Given the description of an element on the screen output the (x, y) to click on. 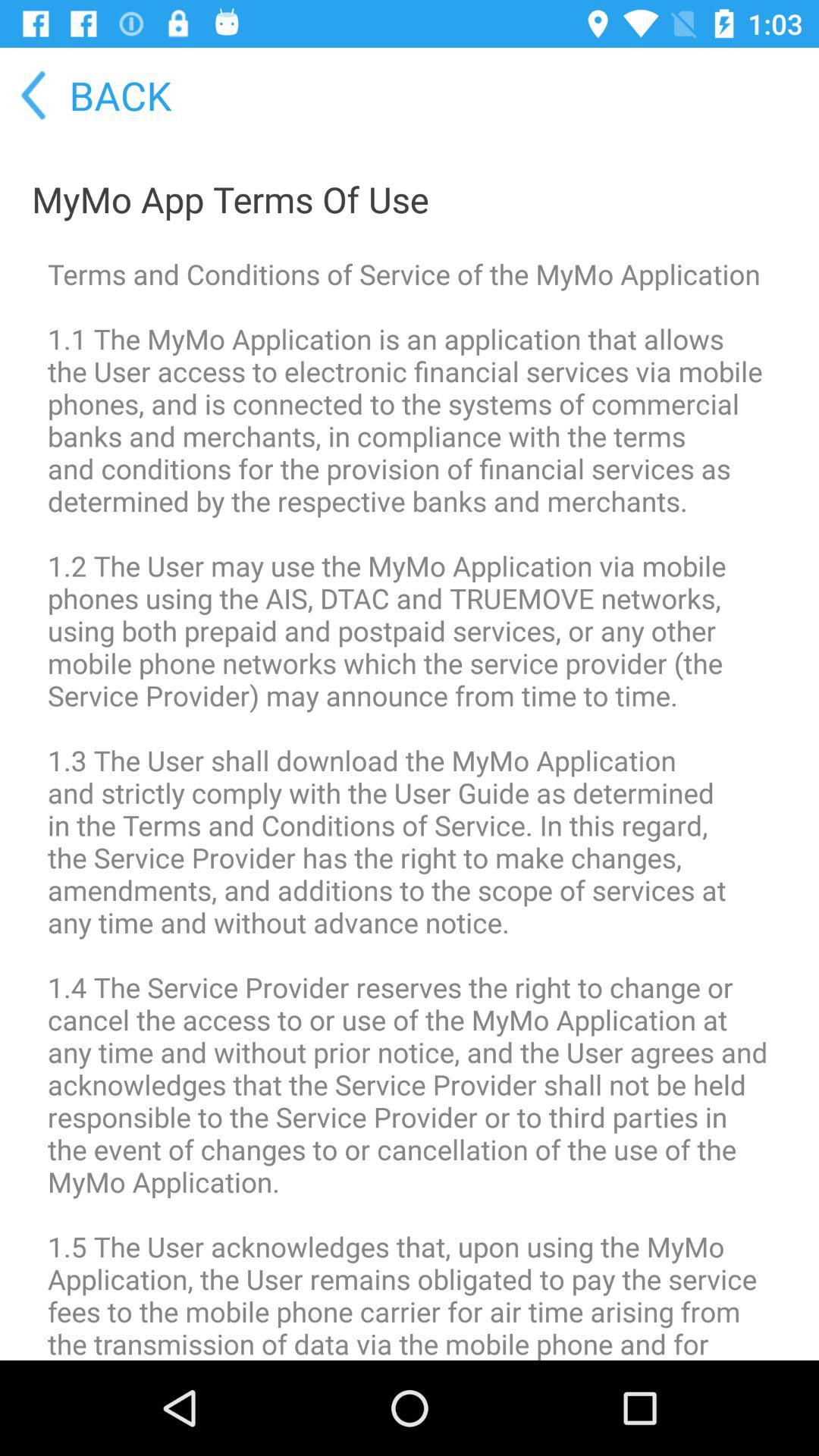
tap the item above mymo app terms icon (87, 95)
